Given the description of an element on the screen output the (x, y) to click on. 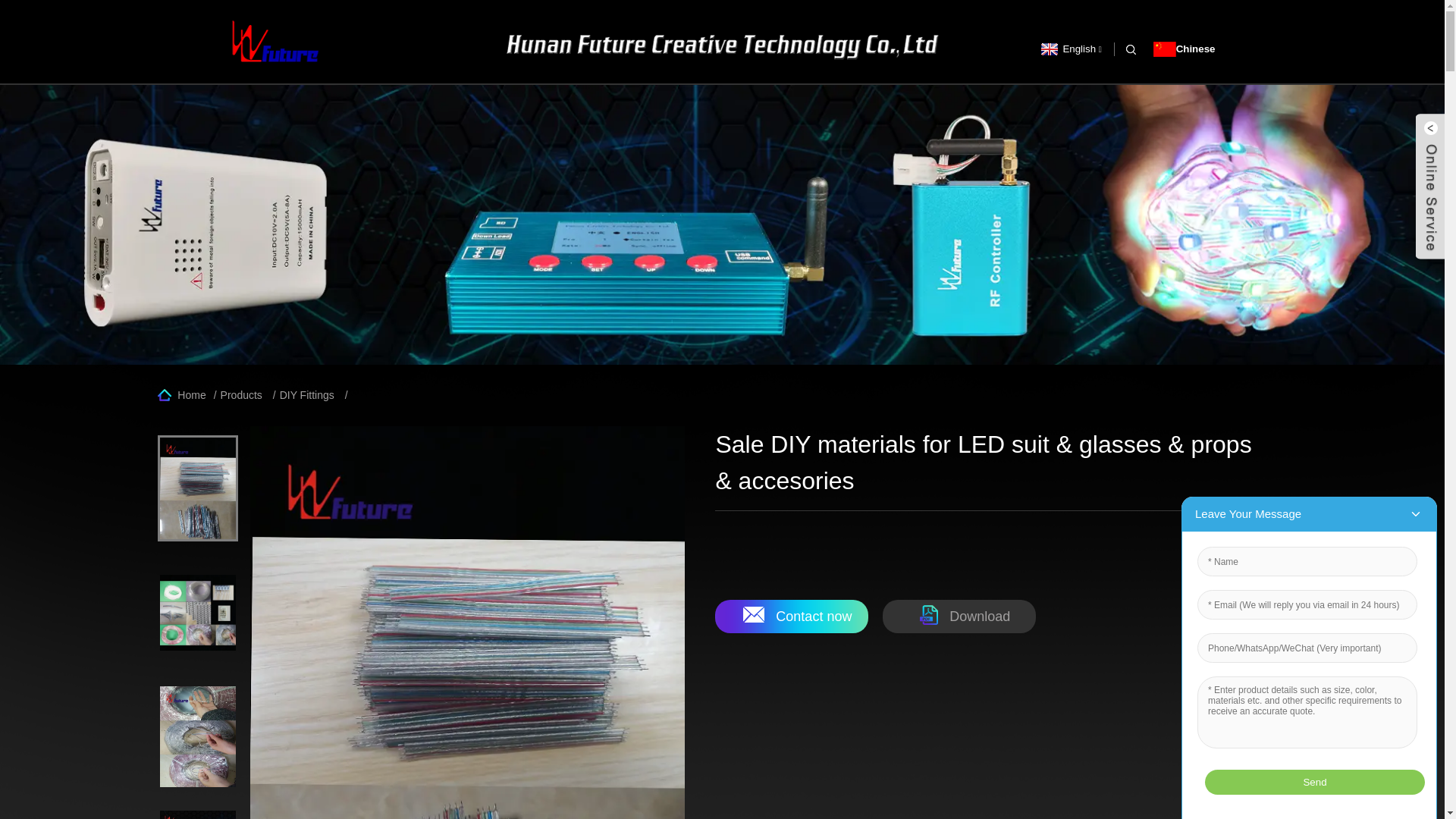
Contact now (790, 616)
Products (241, 395)
DIY Fittings (306, 395)
Products (241, 395)
DIY Fittings (306, 395)
English (1068, 48)
English (1068, 48)
Download (958, 616)
Home (181, 395)
Chinese (1184, 48)
